Given the description of an element on the screen output the (x, y) to click on. 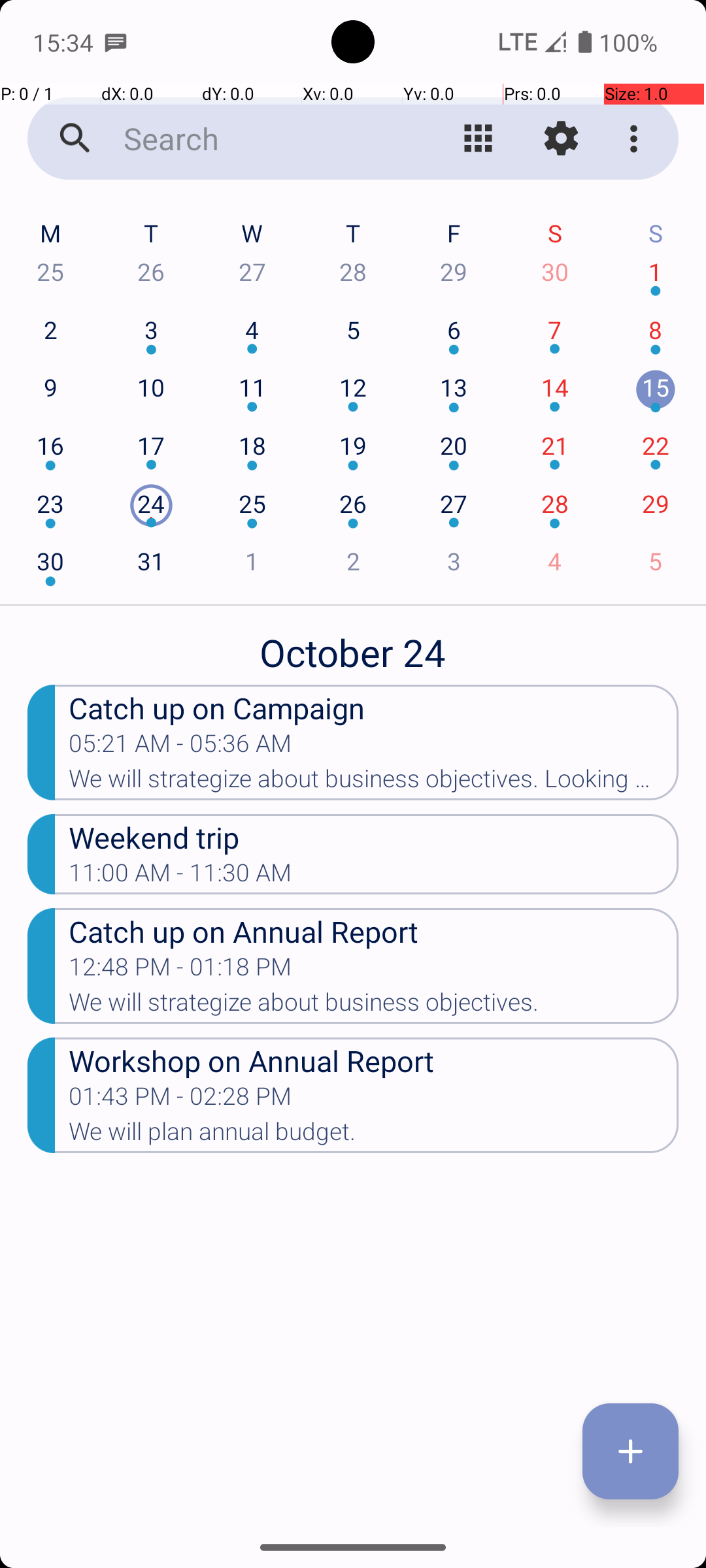
October 24 Element type: android.widget.TextView (352, 644)
05:21 AM - 05:36 AM Element type: android.widget.TextView (179, 747)
We will strategize about business objectives. Looking forward to productive discussions. Element type: android.widget.TextView (373, 782)
Weekend trip Element type: android.widget.TextView (373, 836)
11:00 AM - 11:30 AM Element type: android.widget.TextView (179, 876)
12:48 PM - 01:18 PM Element type: android.widget.TextView (179, 970)
We will strategize about business objectives. Element type: android.widget.TextView (373, 1005)
01:43 PM - 02:28 PM Element type: android.widget.TextView (179, 1099)
